Given the description of an element on the screen output the (x, y) to click on. 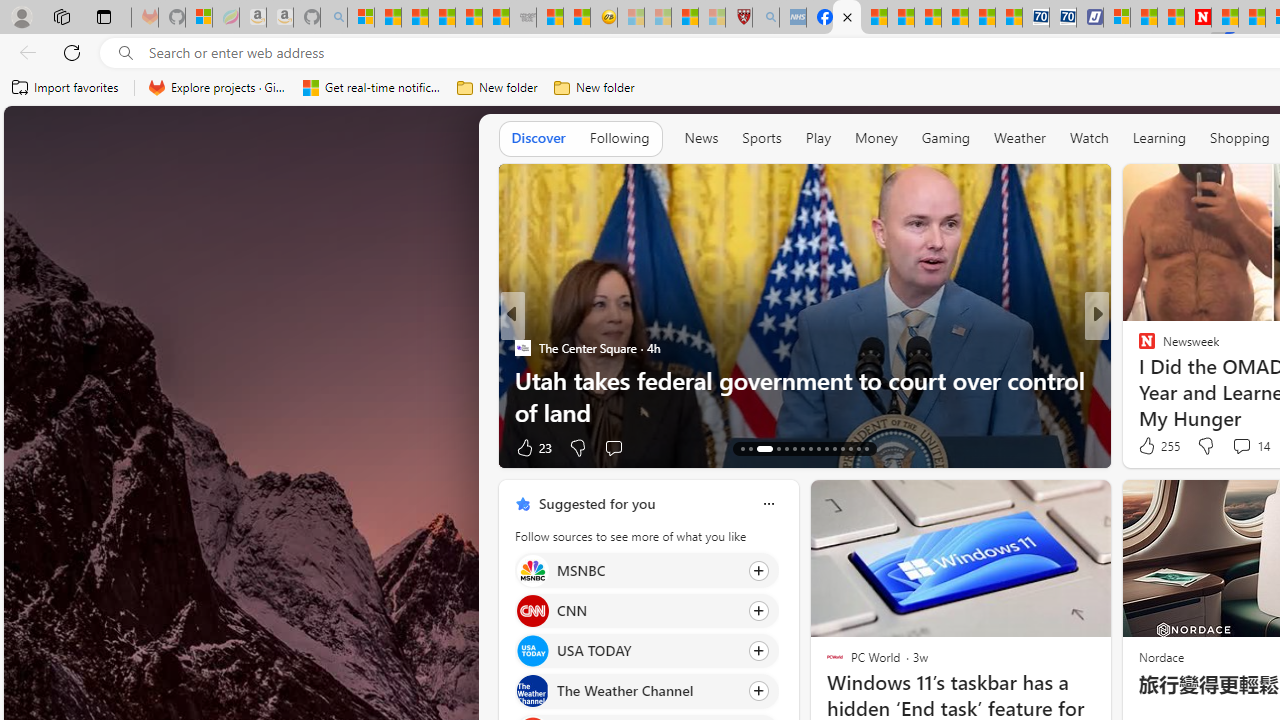
AutomationID: tab-76 (833, 448)
AutomationID: tab-68 (759, 448)
Best Clean Eating (1138, 347)
577 Like (1151, 447)
AutomationID: tab-77 (842, 448)
AutomationID: tab-91 (857, 448)
